Given the description of an element on the screen output the (x, y) to click on. 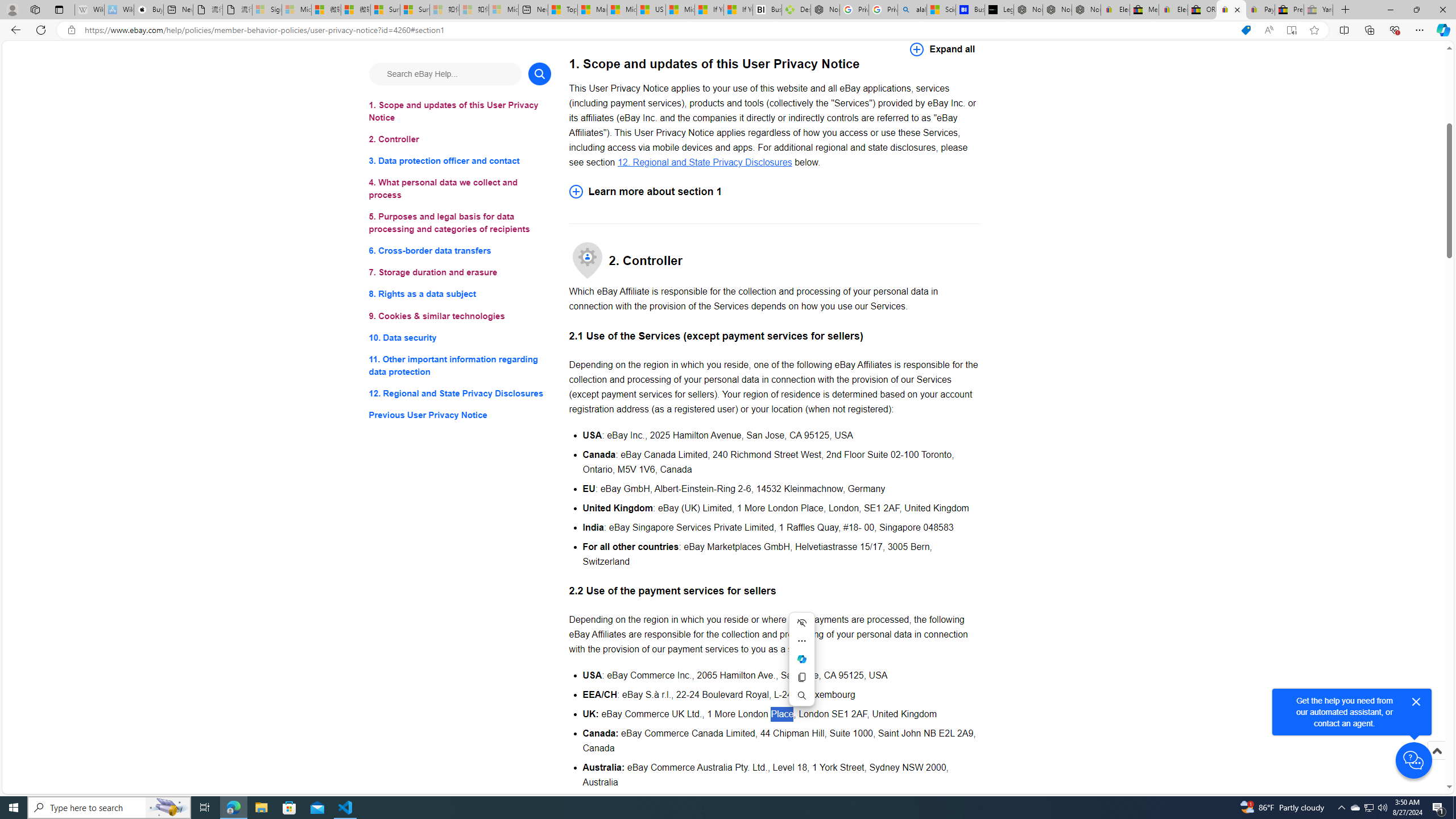
2. Controller (459, 138)
7. Storage duration and erasure (459, 272)
3. Data protection officer and contact (459, 160)
Copy (801, 677)
12. Regional and State Privacy Disclosures (704, 162)
7. Storage duration and erasure (459, 272)
Top Stories - MSN (562, 9)
Learn more about section 1 (774, 191)
3. Data protection officer and contact (459, 160)
